Given the description of an element on the screen output the (x, y) to click on. 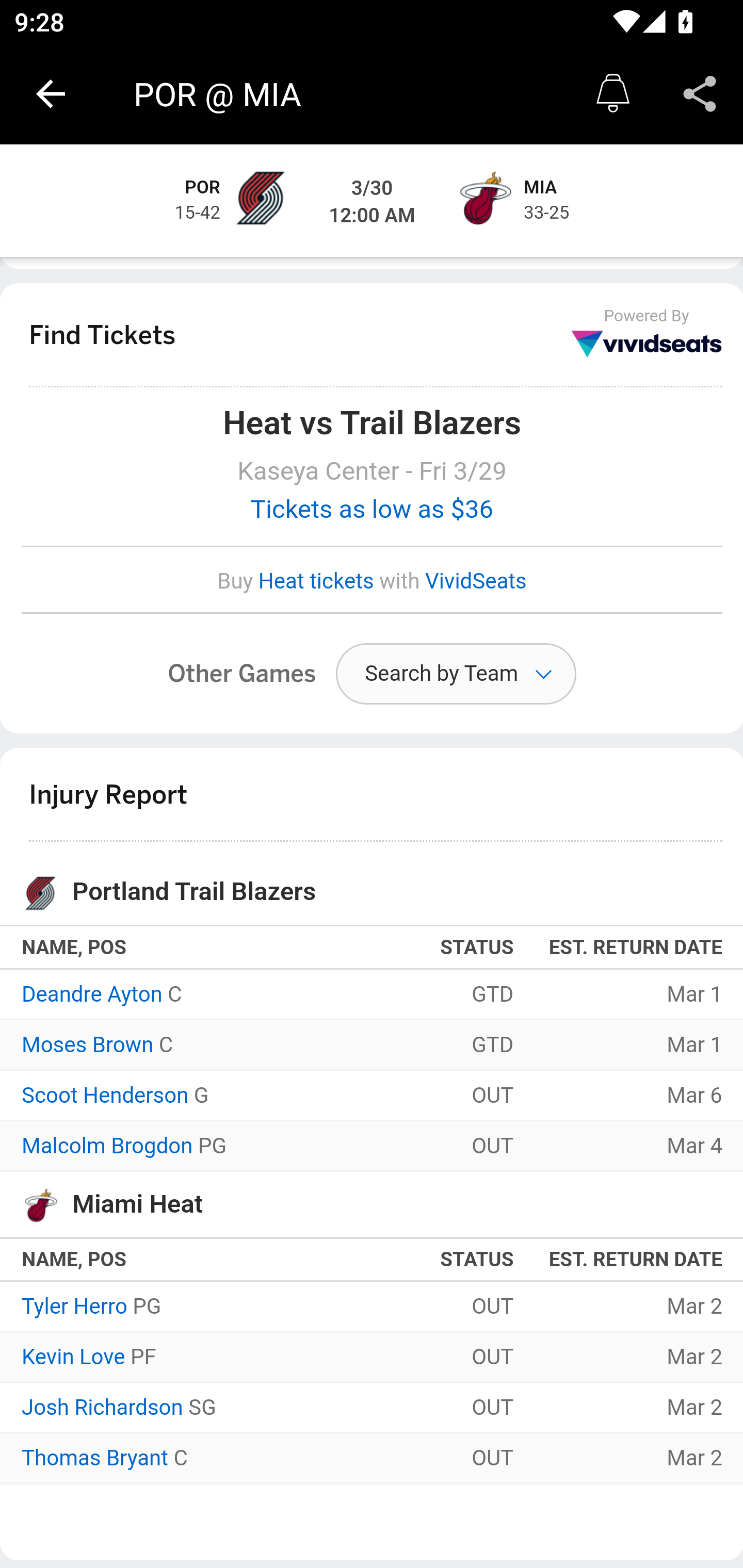
Navigate up (50, 93)
Alerts í (612, 93)
Share (699, 93)
Portland Trail Blazers (260, 201)
Miami Heat (483, 201)
POR (203, 188)
MIA (540, 188)
Powered By VividSeats Powered By VividSeats (646, 334)
Tickets as low as $36 (372, 509)
Heat tickets (315, 581)
VividSeats (475, 581)
Search by Team (455, 674)
Deandre Ayton (92, 994)
Moses Brown (88, 1046)
Scoot Henderson (105, 1096)
Malcolm Brogdon (107, 1146)
Tyler Herro (74, 1307)
Kevin Love (73, 1358)
Josh Richardson (102, 1408)
Thomas Bryant (95, 1458)
